Given the description of an element on the screen output the (x, y) to click on. 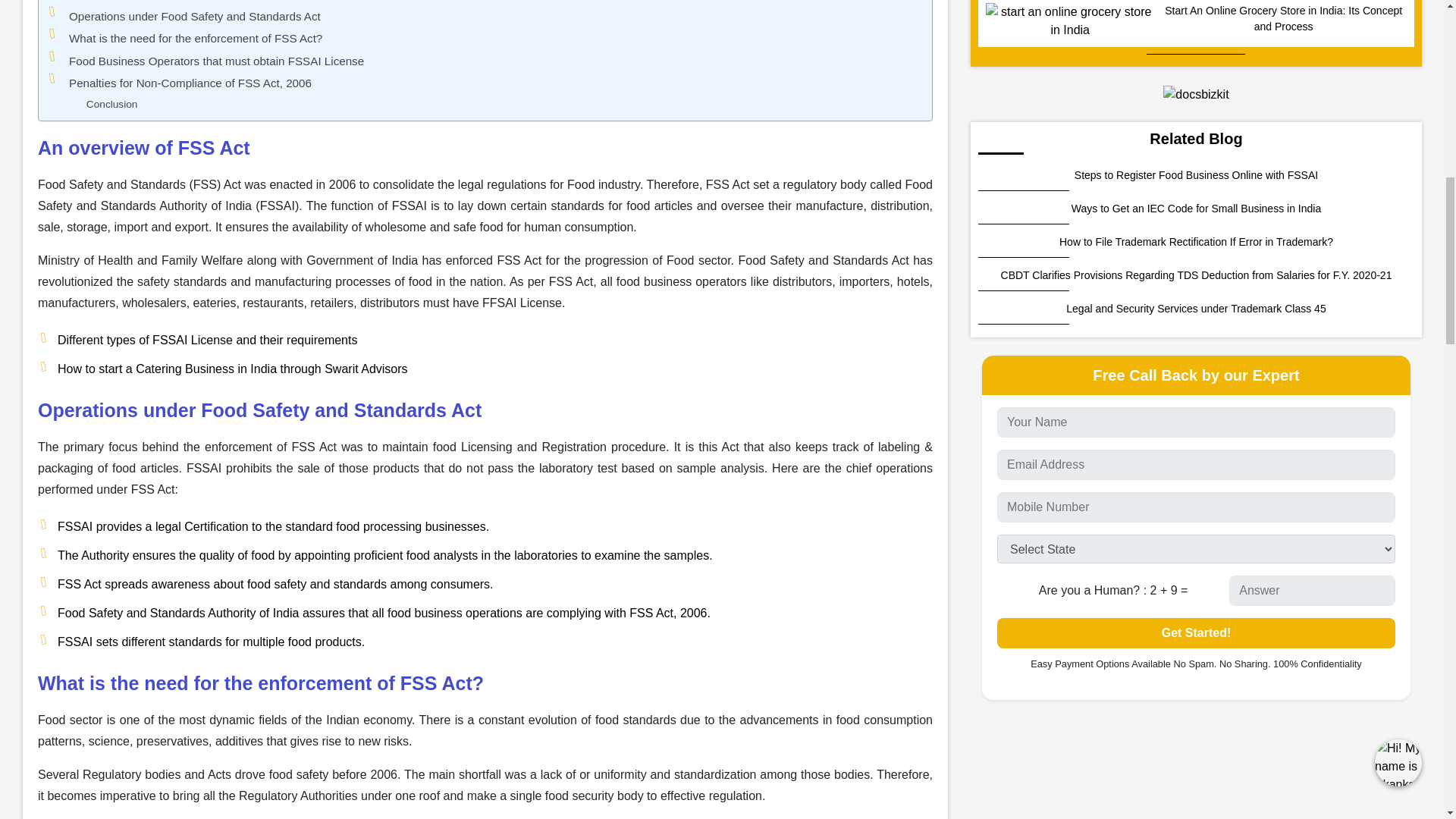
What is the need for the enforcement of FSS Act? (194, 38)
Food Business Operators that must obtain FSSAI License (216, 61)
Get Started! (1195, 633)
An overview of FSS Act (111, 104)
What is the need for the enforcement of FSS Act? (216, 61)
Operations under Food Safety and Standards Act (128, 2)
Penalties for Non-Compliance of FSS Act, 2006 (194, 38)
Operations under Food Safety and Standards Act (194, 16)
An overview of FSS Act (189, 83)
